Given the description of an element on the screen output the (x, y) to click on. 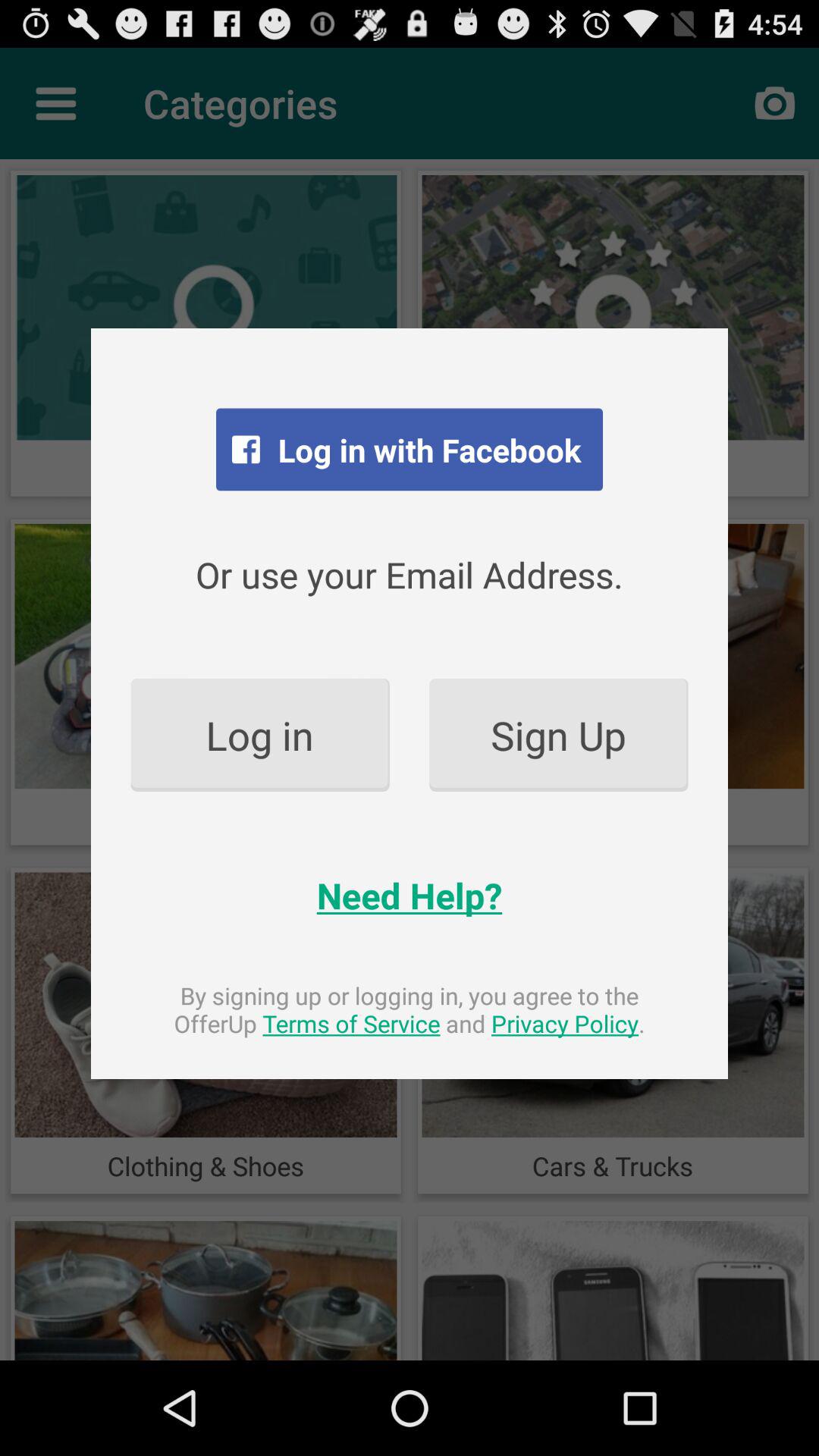
choose the app at the bottom (409, 1009)
